Given the description of an element on the screen output the (x, y) to click on. 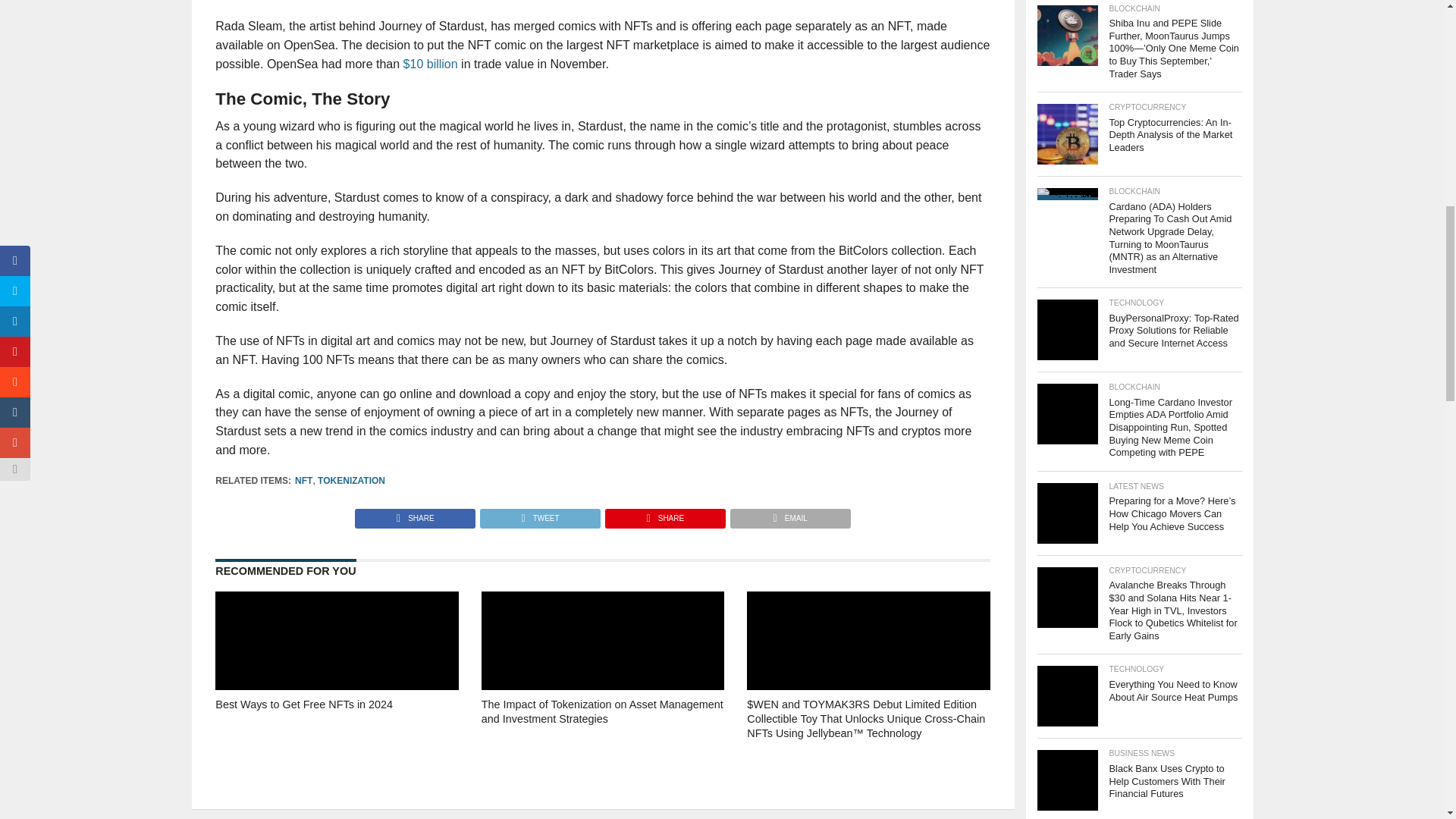
Best Ways to Get Free NFTs in 2024 (336, 733)
Pin This Post (664, 513)
Tweet This Post (539, 513)
Share on Facebook (415, 513)
